Given the description of an element on the screen output the (x, y) to click on. 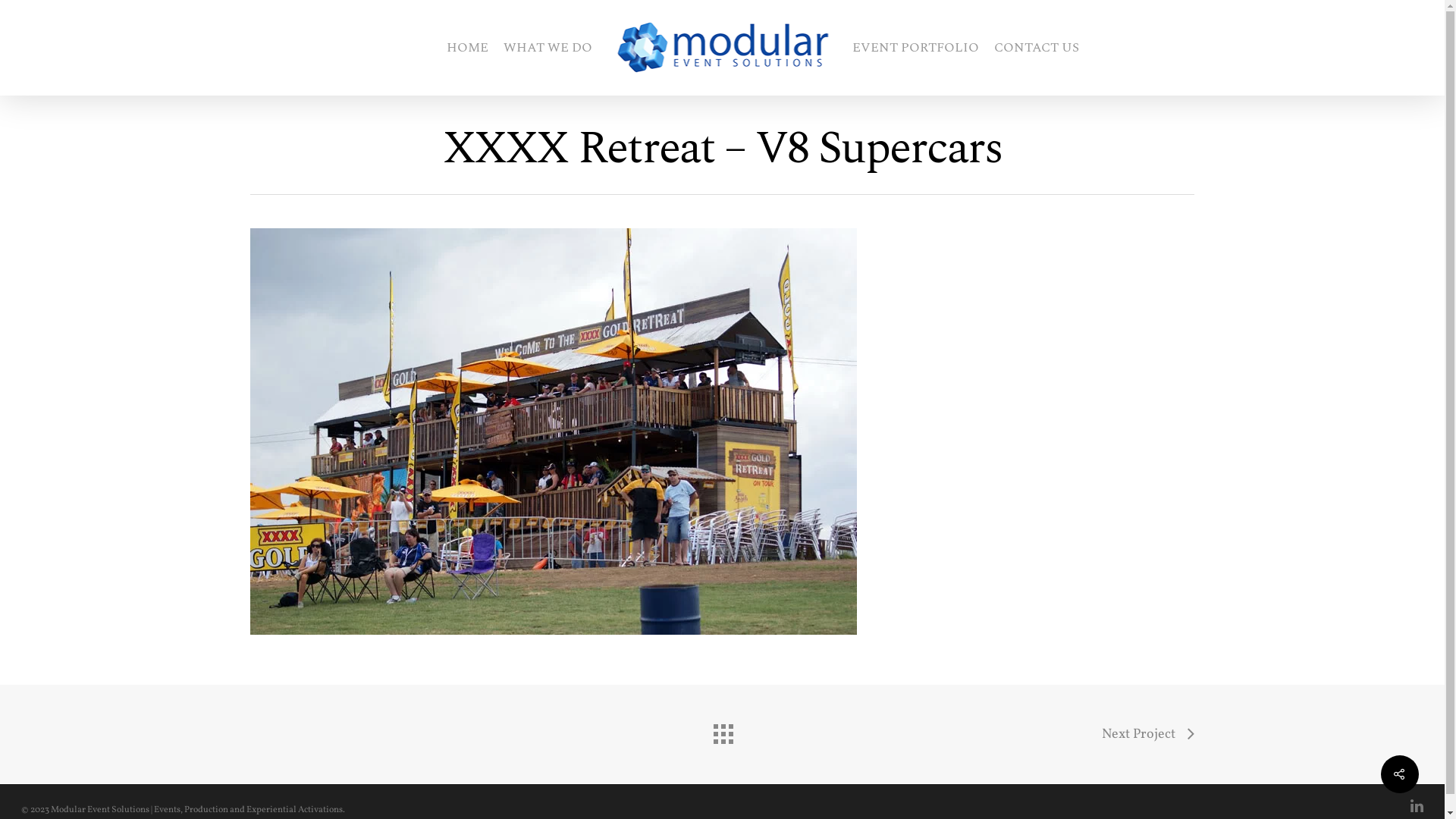
WHAT WE DO Element type: text (547, 46)
CONTACT US Element type: text (1035, 46)
Back to all projects Element type: hover (721, 730)
Next Project Element type: text (1147, 734)
EVENT PORTFOLIO Element type: text (915, 46)
HOME Element type: text (466, 46)
